Given the description of an element on the screen output the (x, y) to click on. 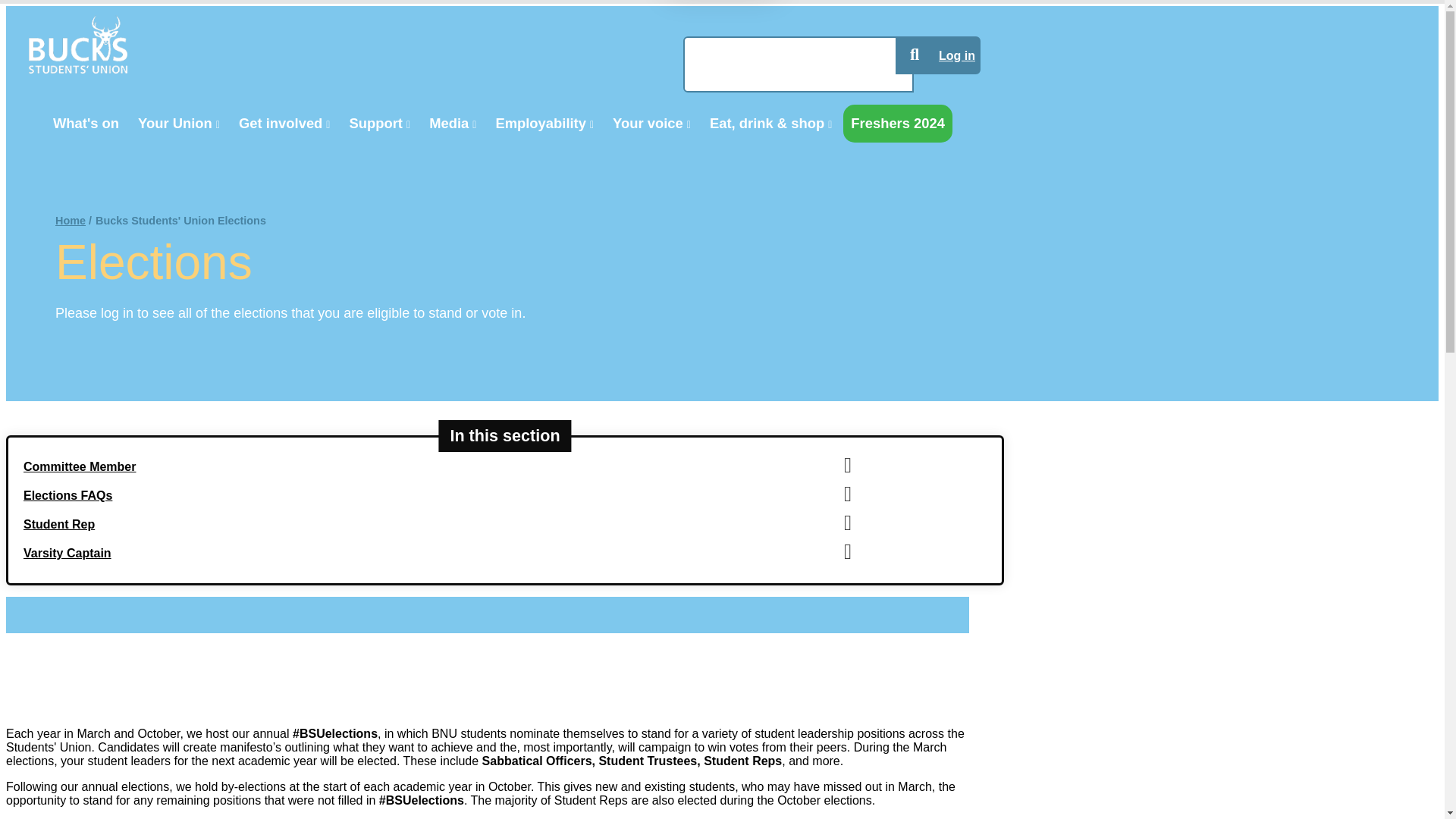
Search (914, 55)
Get involved (284, 123)
Support (378, 123)
Your Union (179, 123)
What's on (85, 123)
Log in (956, 55)
Search (914, 55)
